Given the description of an element on the screen output the (x, y) to click on. 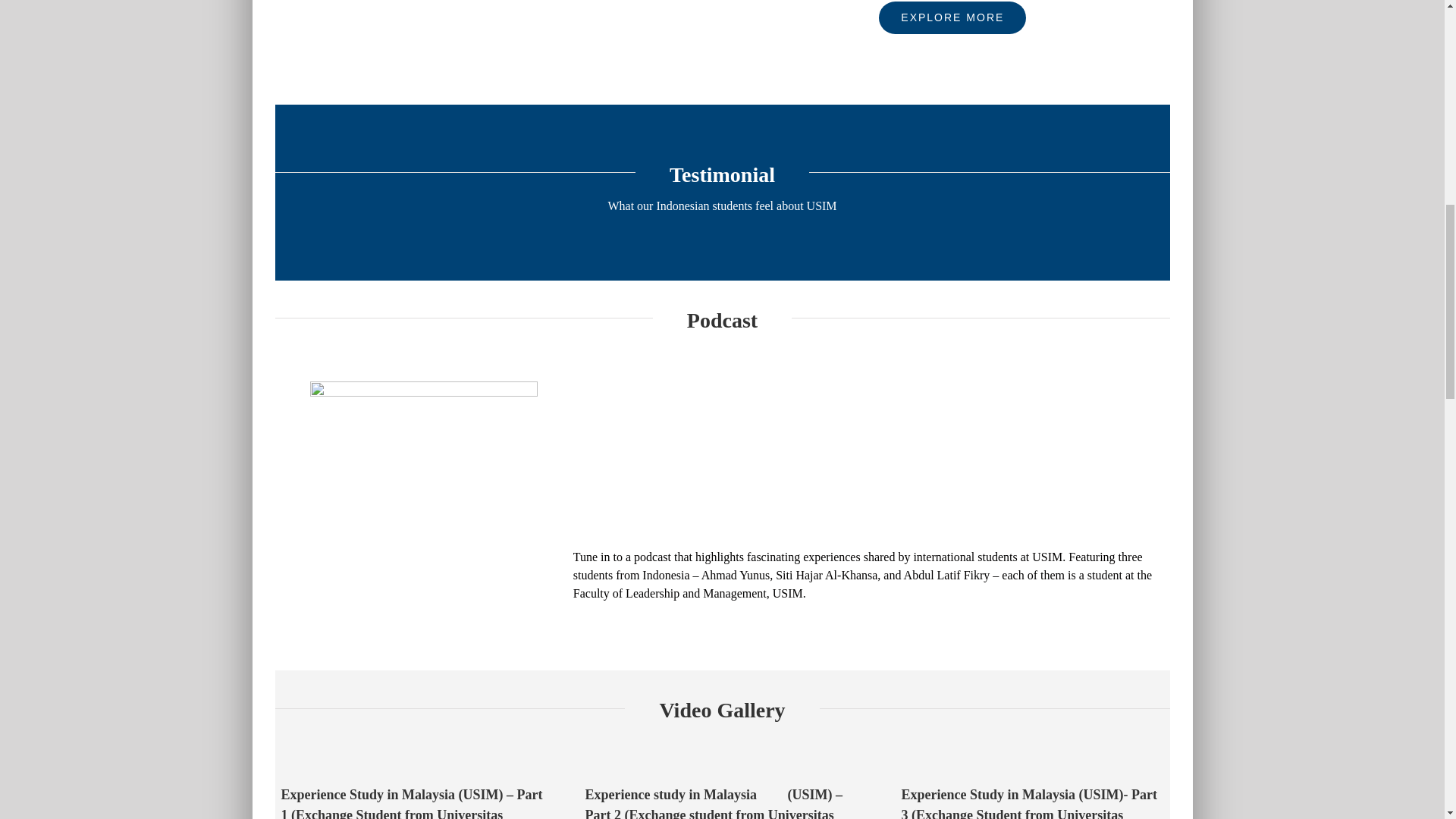
canselori-wide-cloud (491, 52)
